Given the description of an element on the screen output the (x, y) to click on. 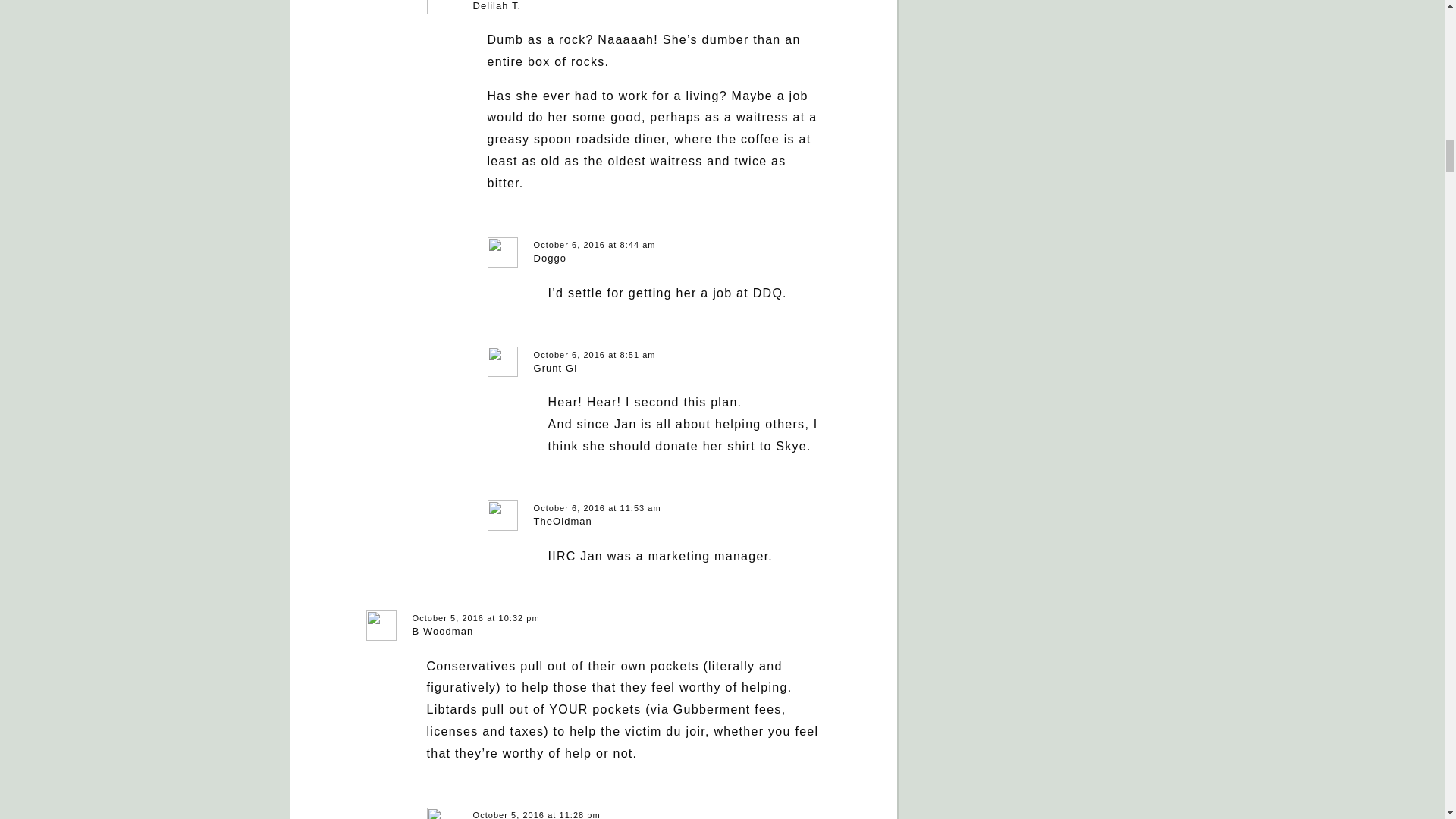
Delilah T. (497, 5)
